Given the description of an element on the screen output the (x, y) to click on. 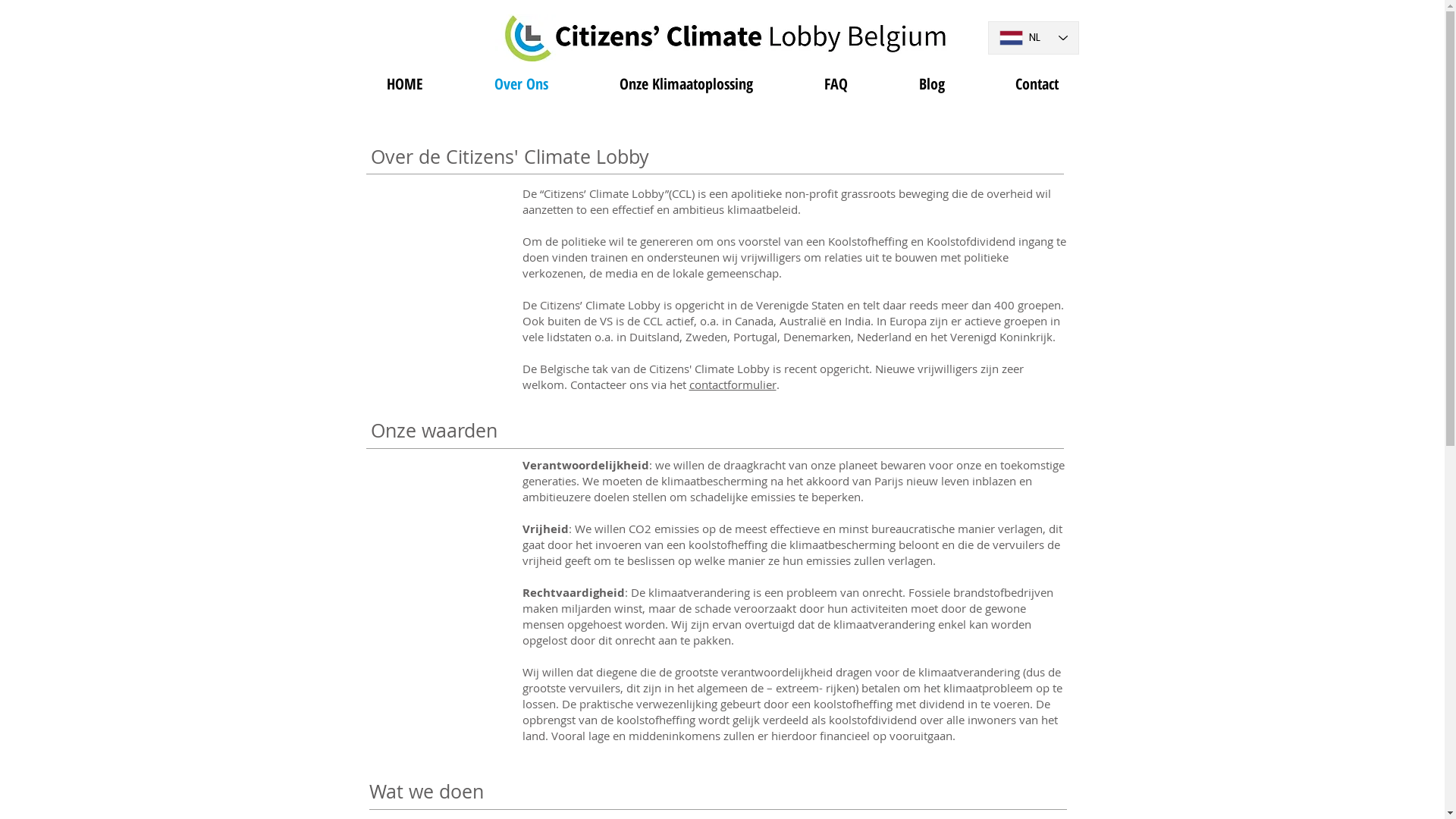
contactformulier Element type: text (731, 384)
Contact Element type: text (1036, 83)
Over Ons Element type: text (520, 83)
Blog Element type: text (930, 83)
HOME Element type: text (404, 83)
Onze Klimaatoplossing Element type: text (685, 83)
FAQ Element type: text (835, 83)
